Given the description of an element on the screen output the (x, y) to click on. 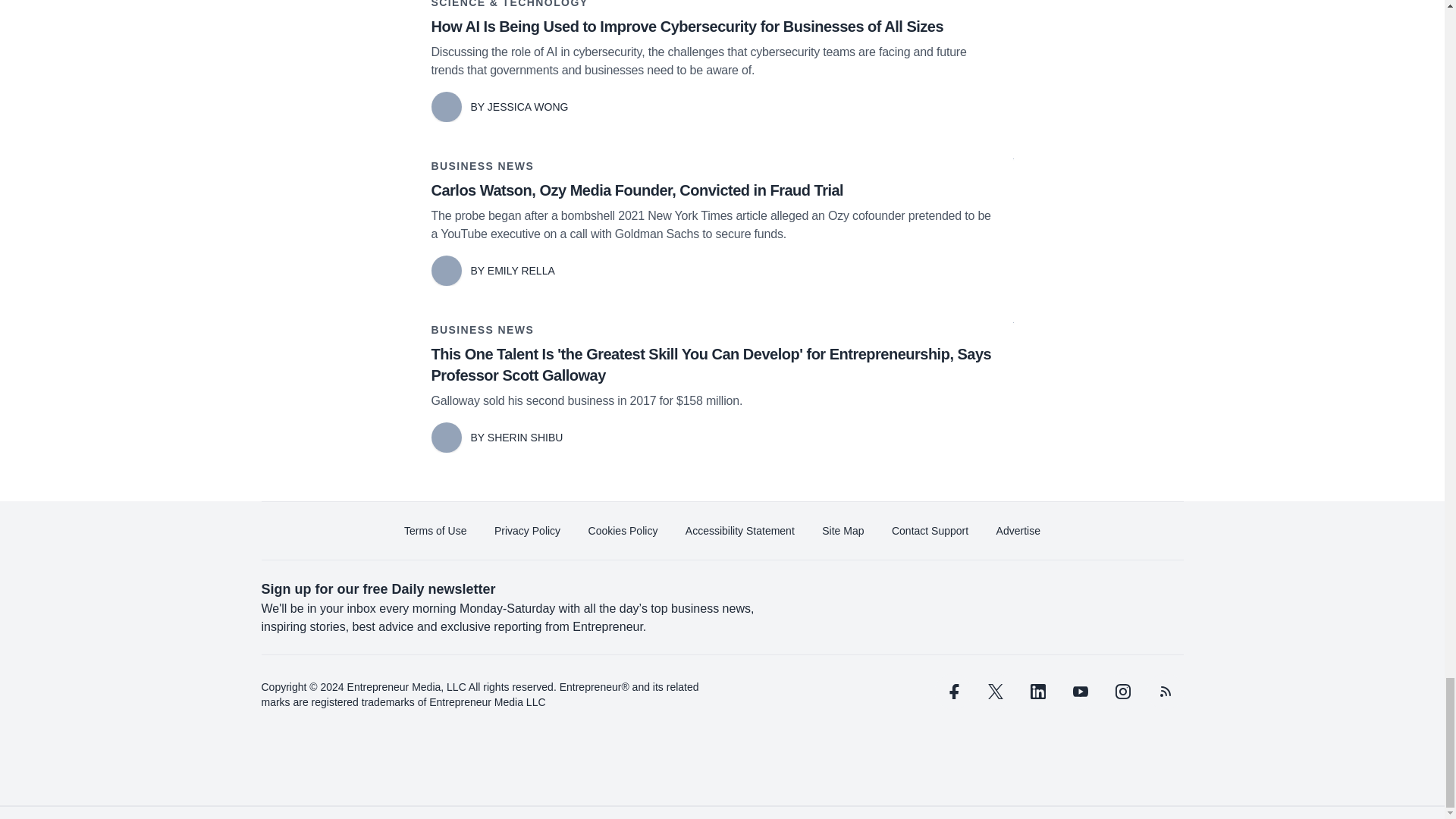
twitter (994, 691)
rss (1164, 691)
instagram (1121, 691)
youtube (1079, 691)
facebook (952, 691)
linkedin (1037, 691)
